Given the description of an element on the screen output the (x, y) to click on. 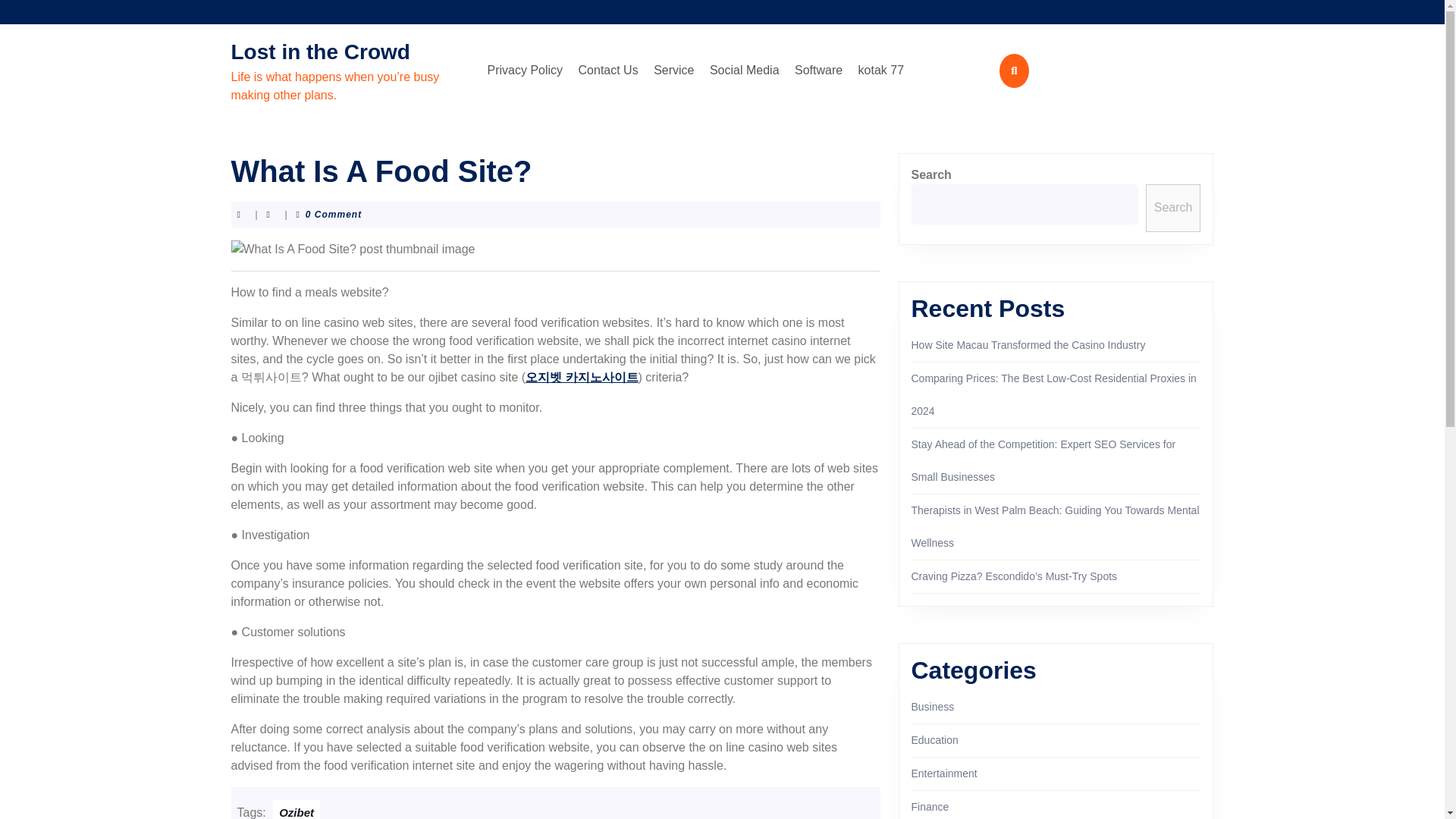
Ozibet (296, 809)
How Site Macau Transformed the Casino Industry (1028, 345)
Education (934, 739)
Search (1173, 207)
kotak 77 (880, 70)
Privacy Policy (524, 70)
Service (673, 70)
Lost in the Crowd (319, 51)
Finance (930, 806)
Contact Us (608, 70)
Entertainment (943, 773)
Social Media (744, 70)
